Given the description of an element on the screen output the (x, y) to click on. 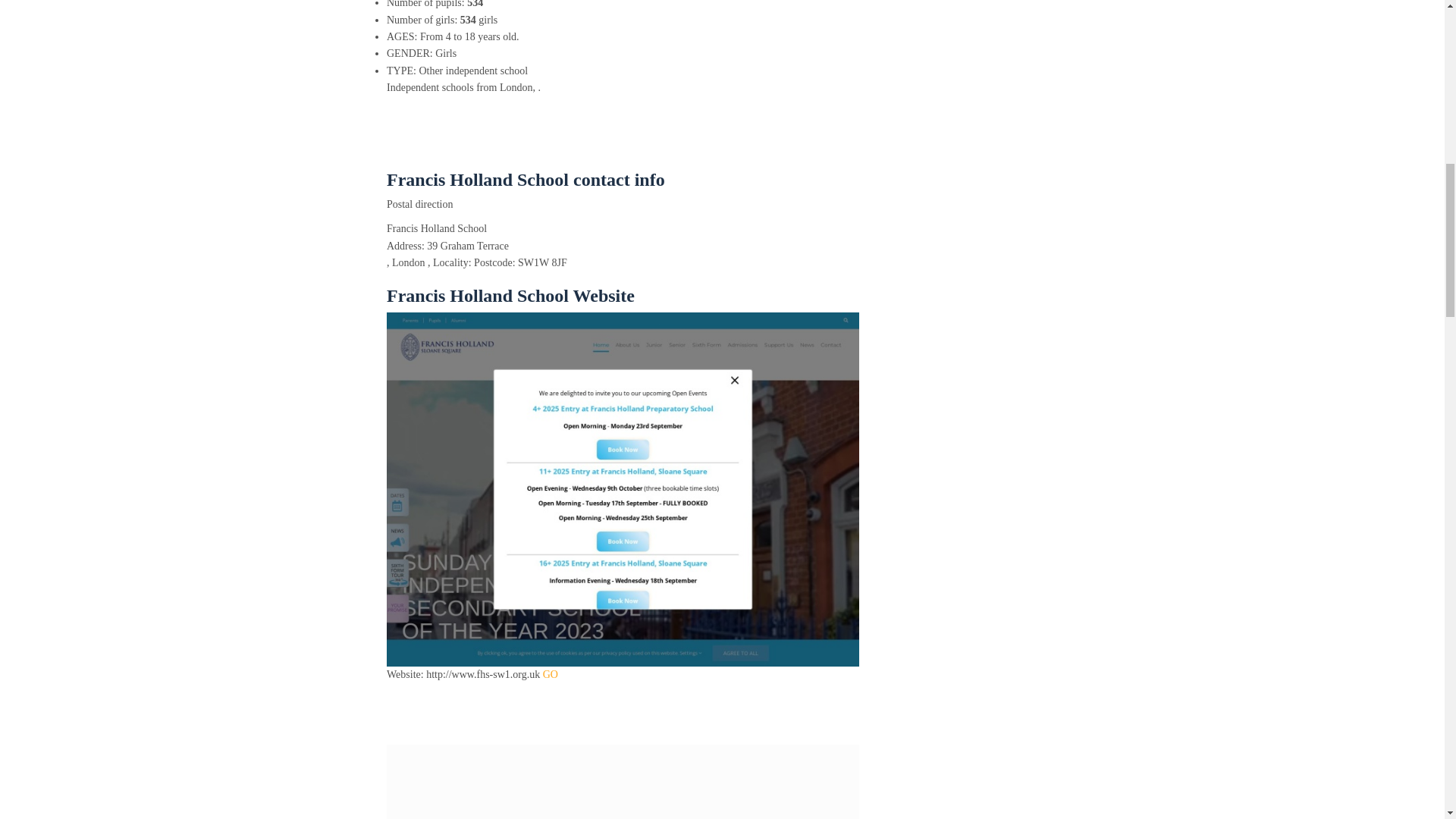
GO (550, 674)
